Given the description of an element on the screen output the (x, y) to click on. 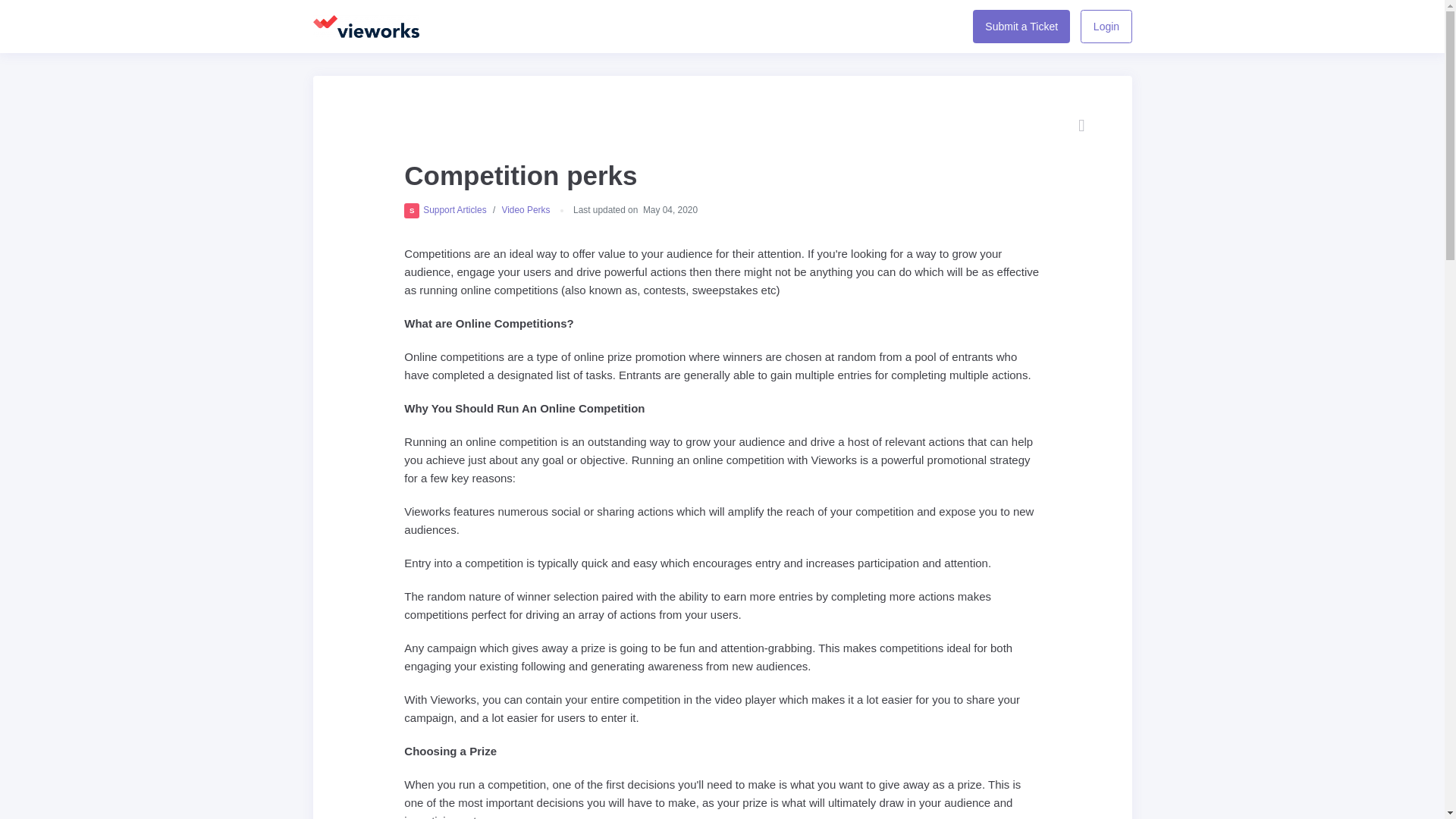
Print Article (1081, 125)
Submit a Ticket (445, 210)
Login (1021, 26)
Video Perks (1105, 26)
